Given the description of an element on the screen output the (x, y) to click on. 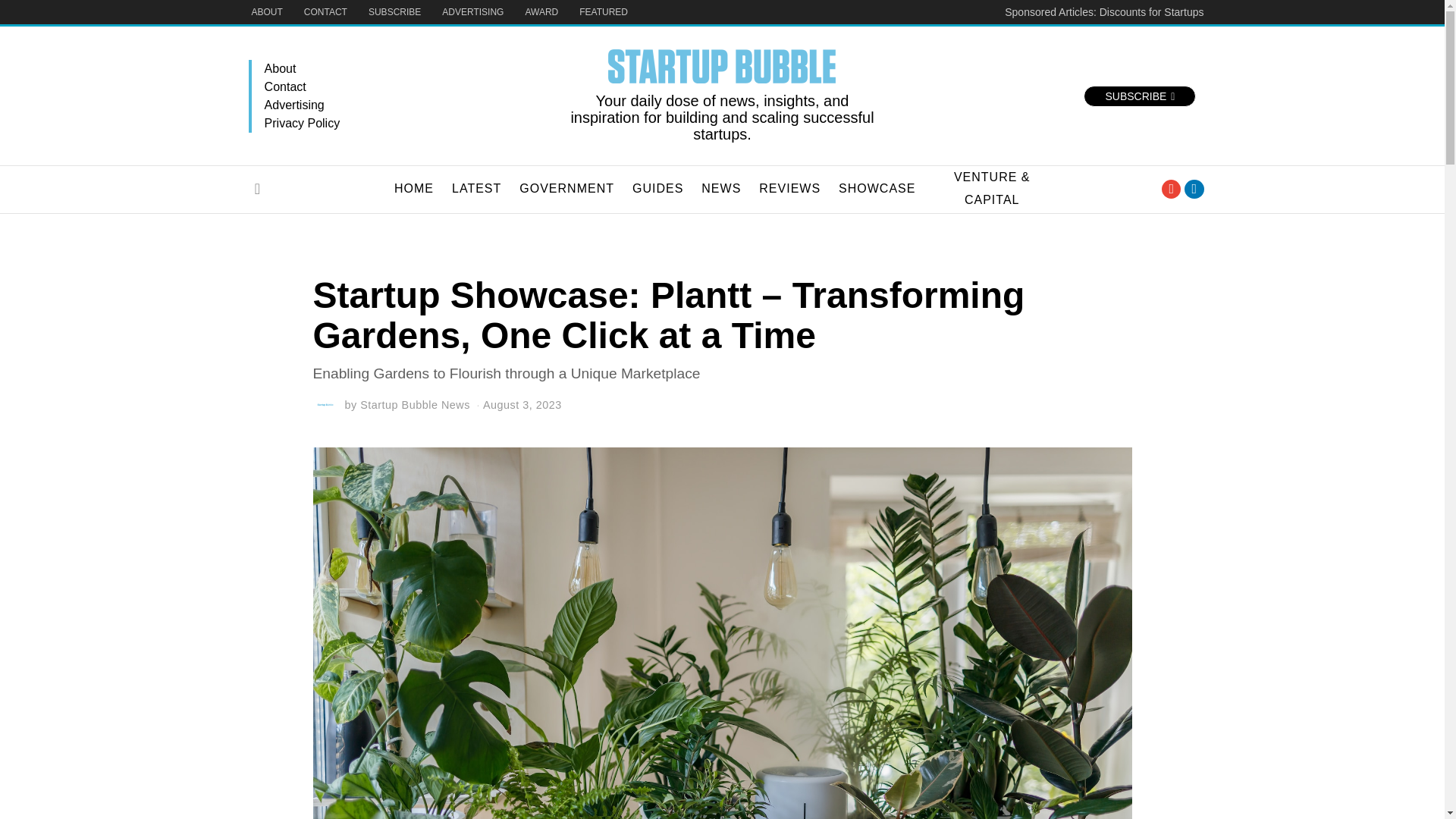
GOVERNMENT (567, 188)
CONTACT (326, 12)
HOME (413, 188)
StartupBubble Logo (721, 66)
AWARD (541, 12)
GUIDES (658, 188)
Go (258, 188)
FEATURED (604, 12)
Startup Bubble News (414, 404)
SUBSCRIBE (1139, 96)
REVIEWS (789, 188)
ABOUT (267, 12)
Contact (407, 86)
SHOWCASE (876, 188)
ADVERTISING (471, 12)
